Given the description of an element on the screen output the (x, y) to click on. 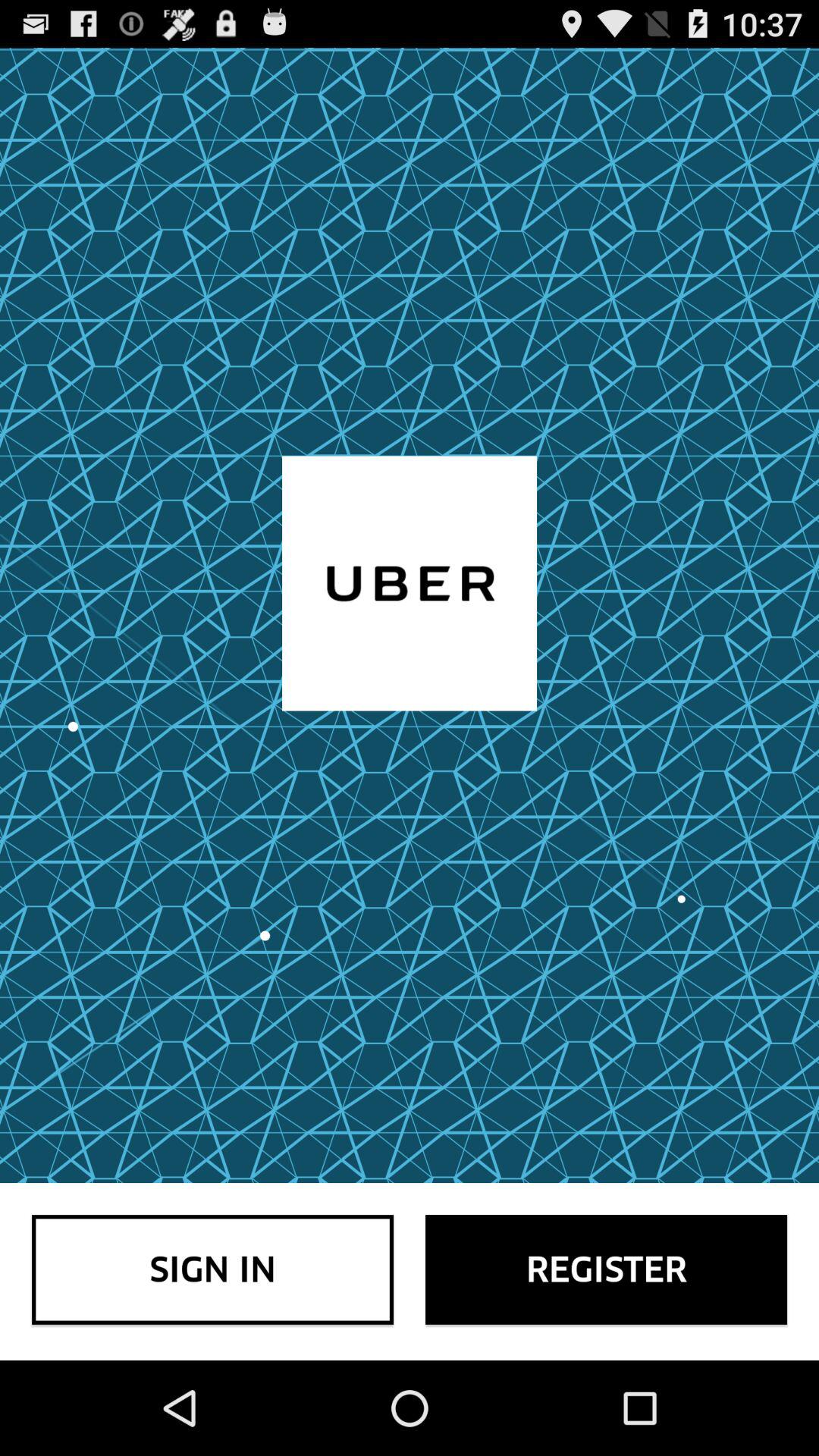
open the item to the left of the register icon (212, 1269)
